Given the description of an element on the screen output the (x, y) to click on. 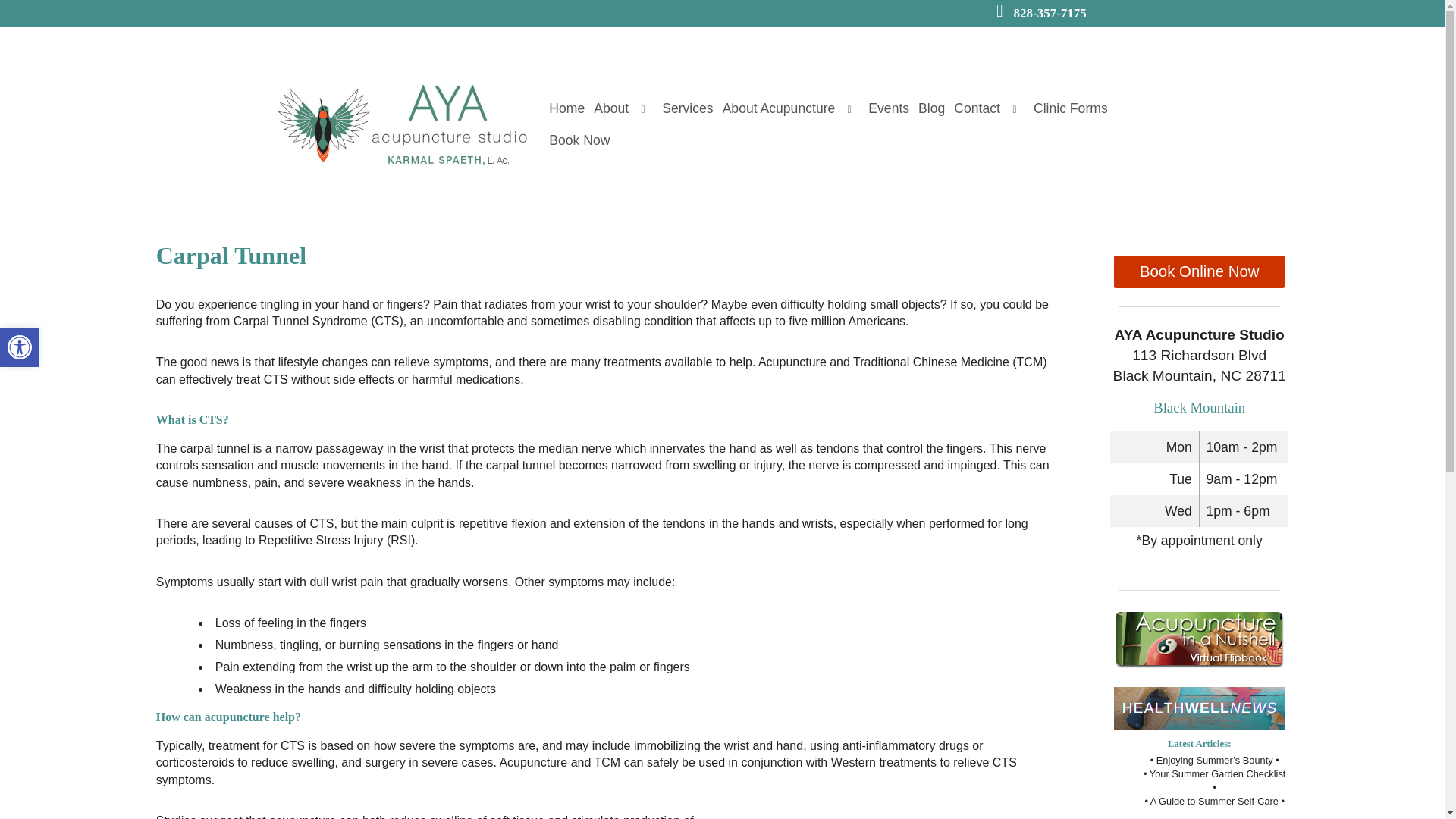
About Acupuncture (778, 108)
Clinic Forms (1070, 108)
Home (566, 108)
Accessibility Tools (19, 346)
Events (888, 108)
Book Now (579, 140)
Contact (19, 346)
Services (976, 108)
Blog (687, 108)
Accessibility Tools (931, 108)
About (19, 346)
